Given the description of an element on the screen output the (x, y) to click on. 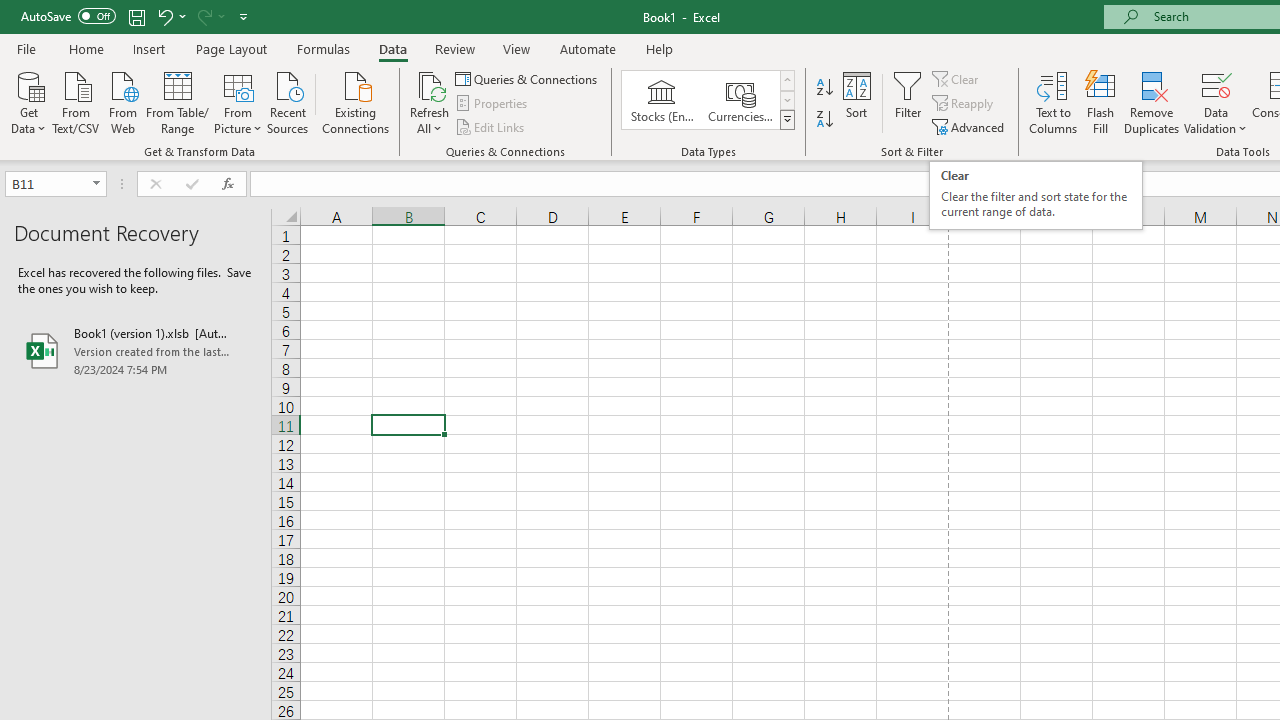
Remove Duplicates (1151, 102)
Sort Z to A (824, 119)
Edit Links (491, 126)
From Text/CSV (75, 101)
